Given the description of an element on the screen output the (x, y) to click on. 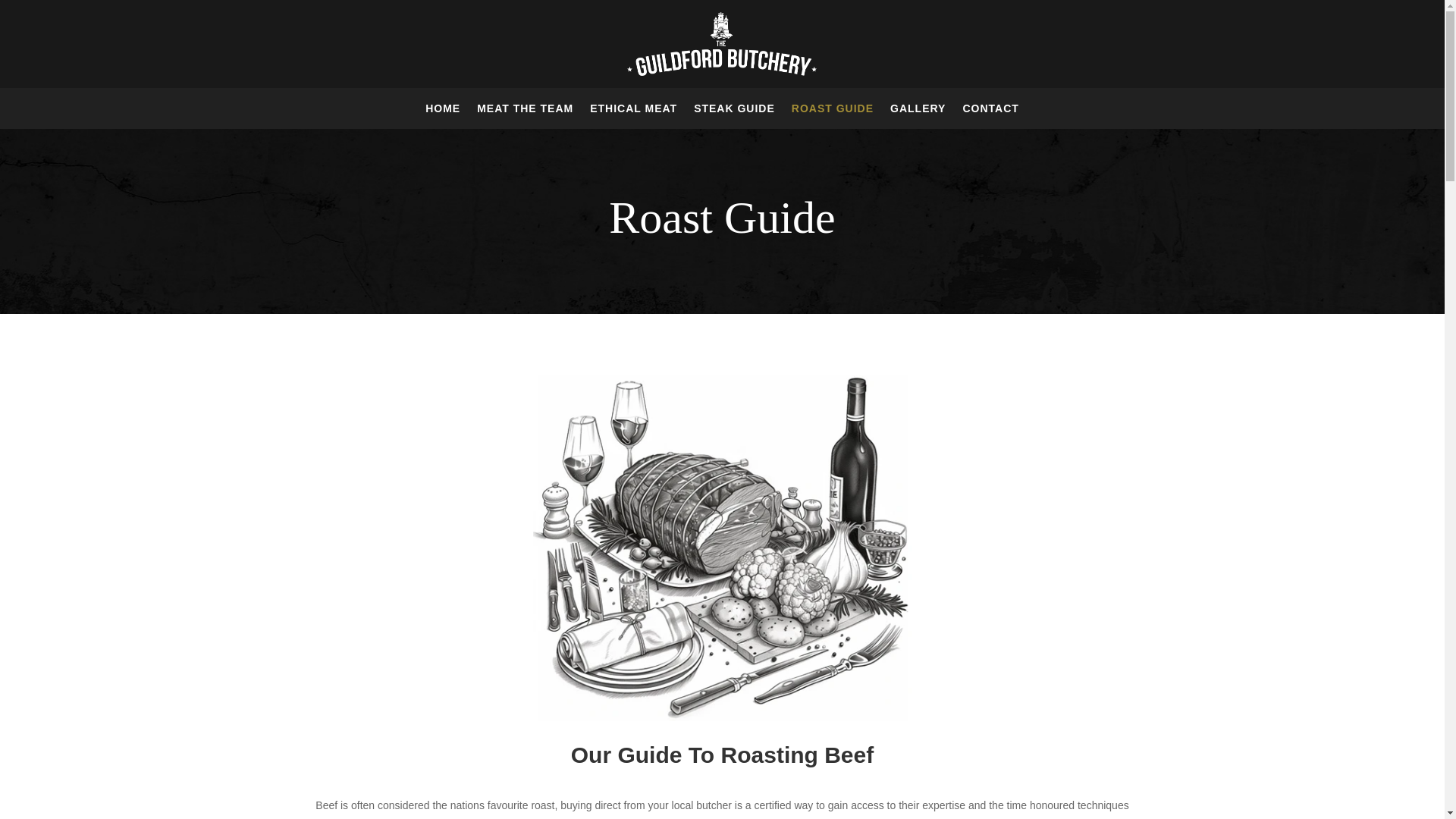
ETHICAL MEAT (633, 111)
HOME (442, 111)
CONTACT (989, 111)
STEAK GUIDE (734, 111)
GALLERY (916, 111)
roast-guide2 (721, 548)
MEAT THE TEAM (525, 111)
ROAST GUIDE (832, 111)
